Given the description of an element on the screen output the (x, y) to click on. 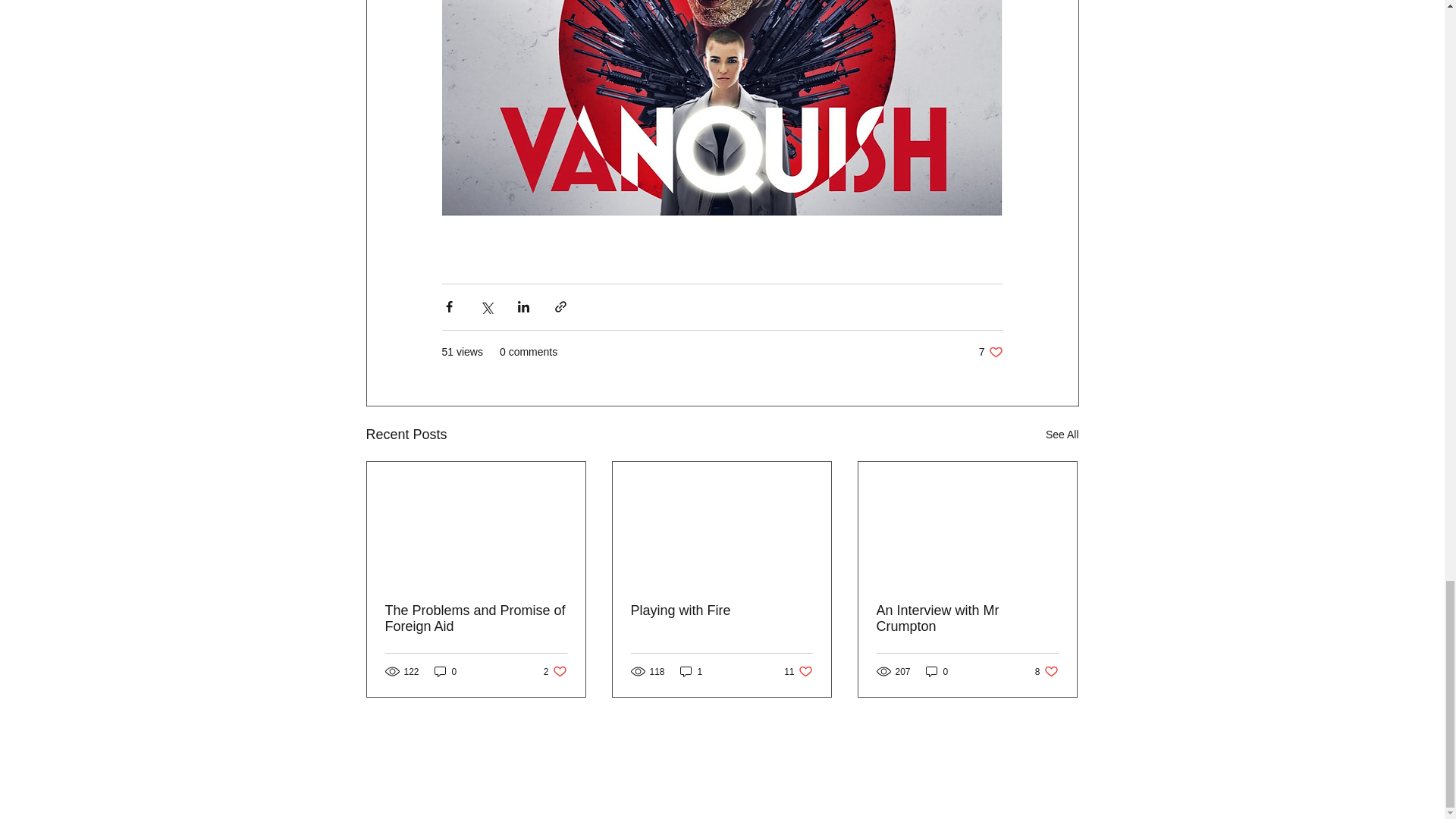
0 (445, 671)
1 (798, 671)
An Interview with Mr Crumpton (990, 351)
Playing with Fire (555, 671)
The Problems and Promise of Foreign Aid (1046, 671)
0 (691, 671)
